Given the description of an element on the screen output the (x, y) to click on. 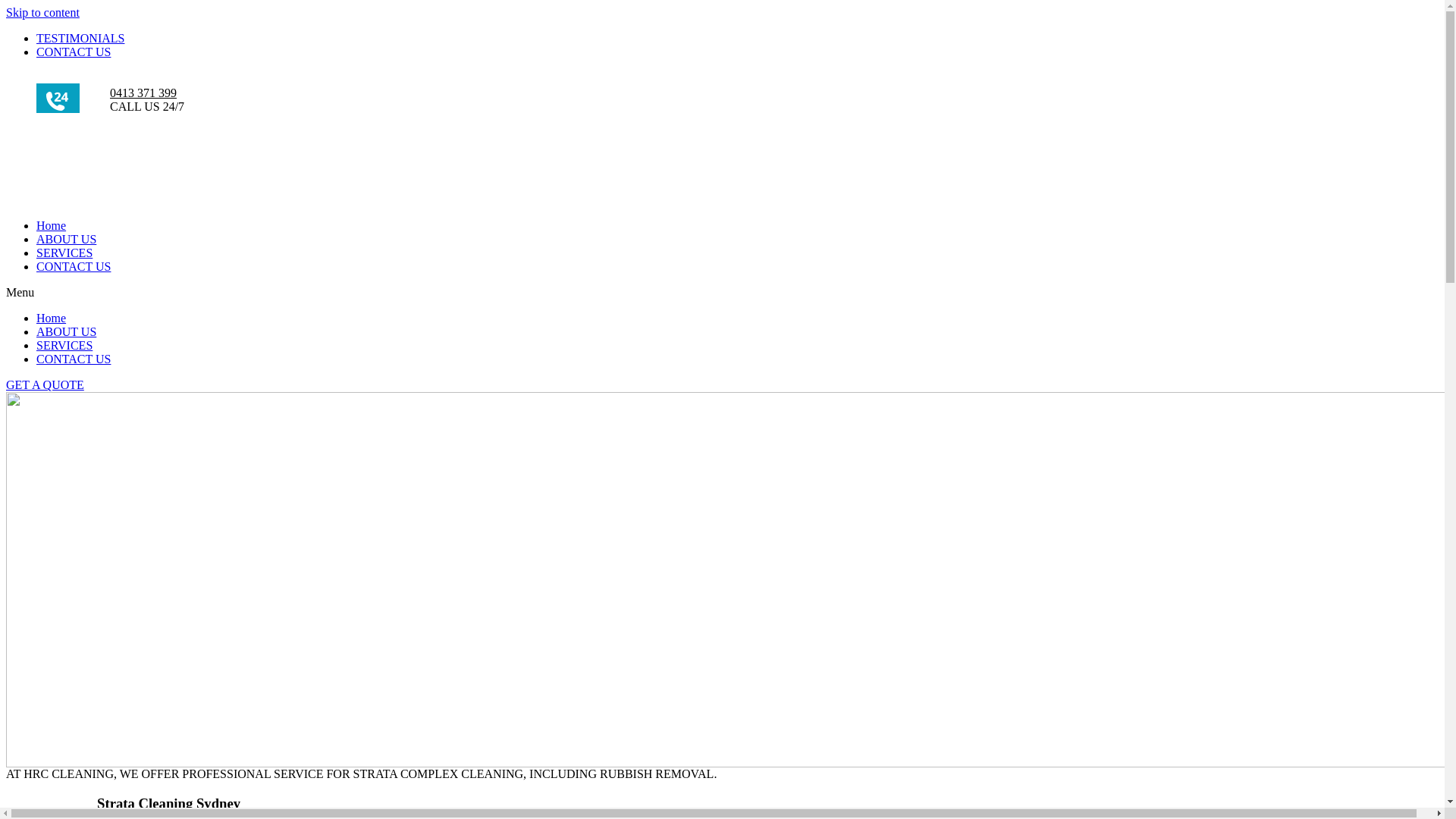
CONTACT US Element type: text (73, 358)
Home Element type: text (50, 317)
ABOUT US Element type: text (66, 238)
SERVICES Element type: text (64, 344)
GET A QUOTE Element type: text (45, 384)
CONTACT US Element type: text (73, 266)
CONTACT US Element type: text (73, 51)
Home Element type: text (50, 225)
ABOUT US Element type: text (66, 331)
Strata Cleaning Sydney Element type: text (168, 803)
Skip to content Element type: text (42, 12)
0413 371 399 Element type: text (142, 92)
SERVICES Element type: text (64, 252)
TESTIMONIALS Element type: text (80, 37)
